Given the description of an element on the screen output the (x, y) to click on. 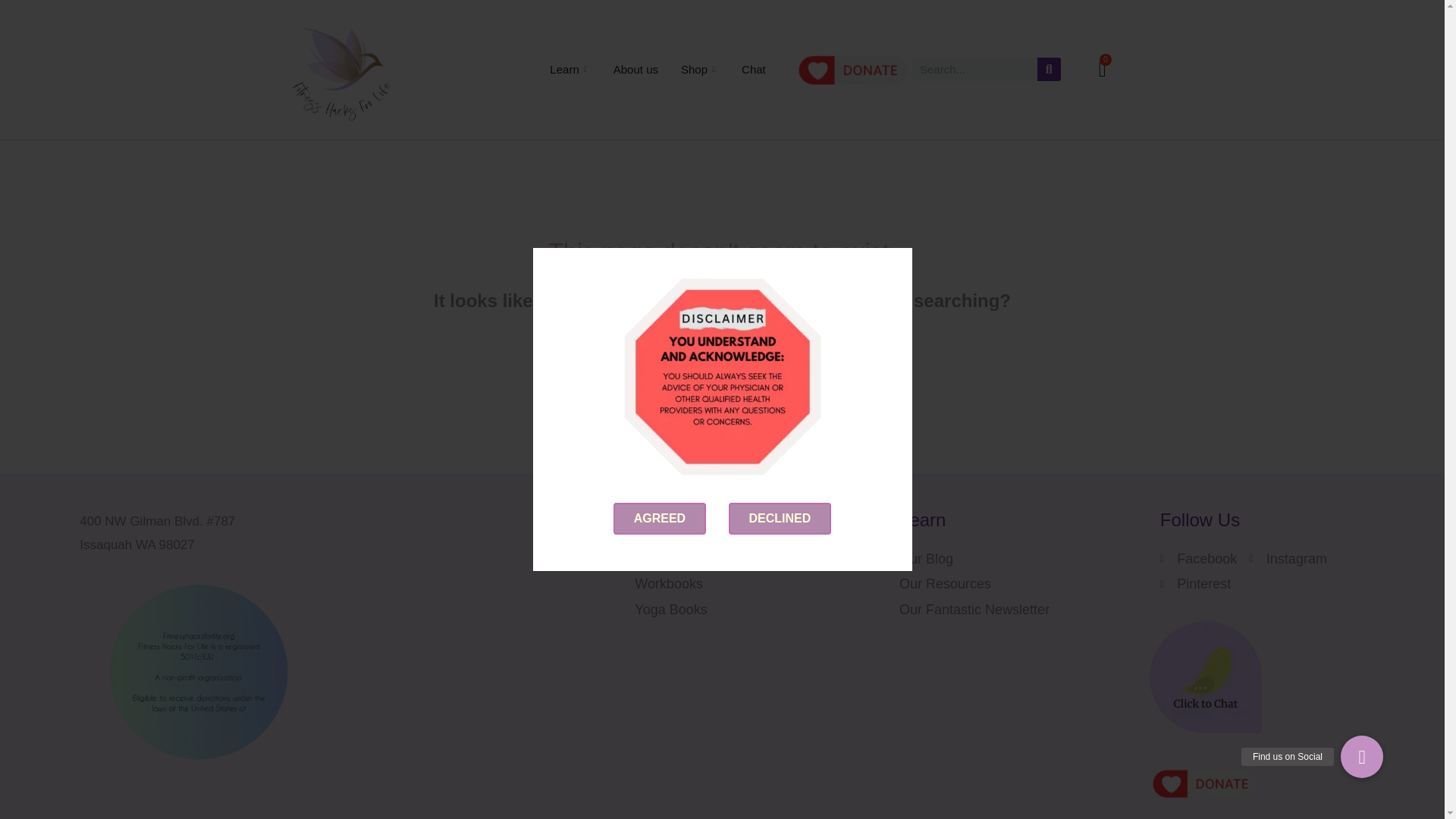
DECLINED (780, 518)
